Given the description of an element on the screen output the (x, y) to click on. 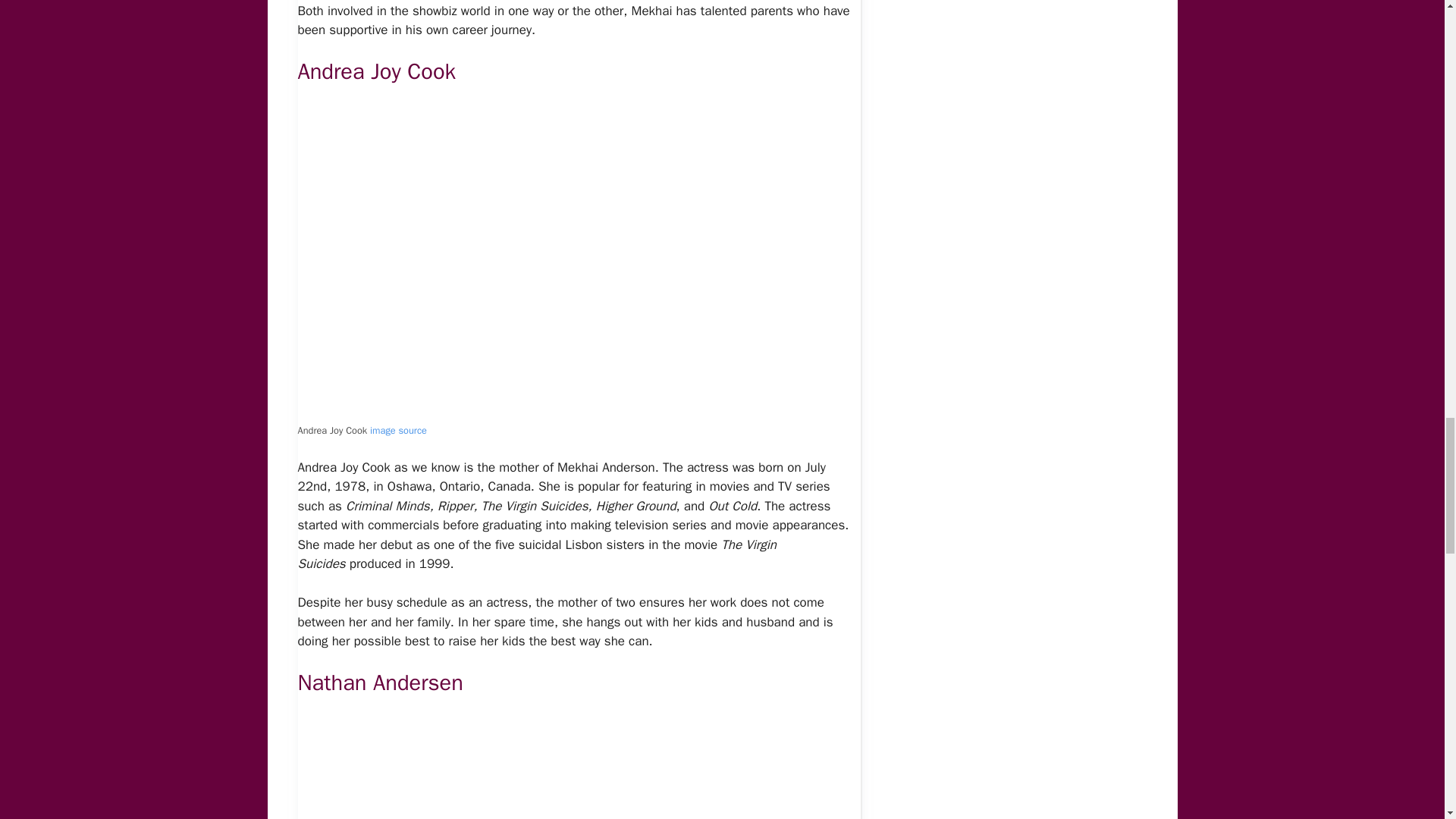
image source (397, 430)
